Given the description of an element on the screen output the (x, y) to click on. 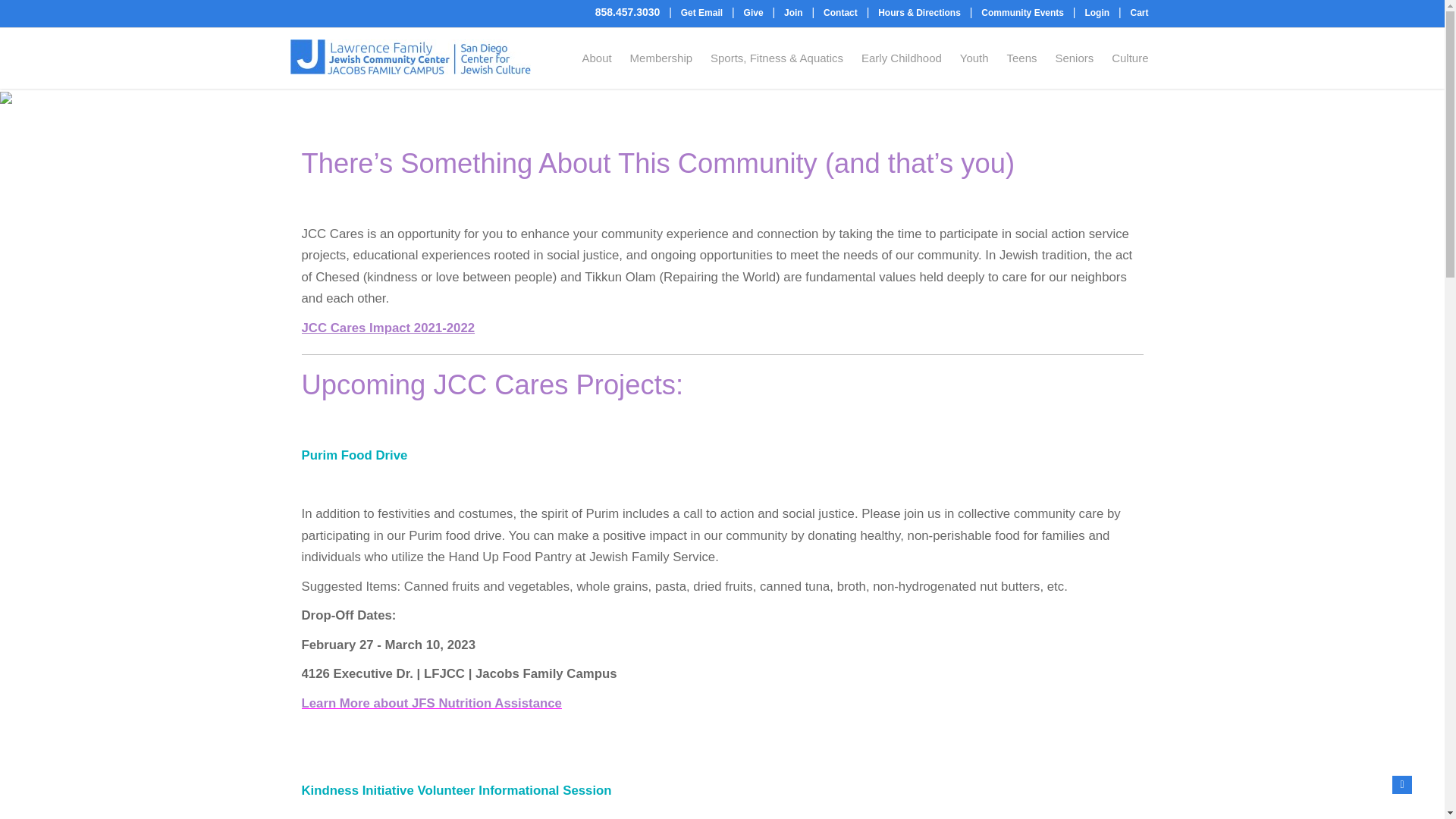
Login (1096, 12)
Contact (840, 12)
Get Email (701, 12)
Community Events (1022, 12)
About (595, 57)
Membership (661, 57)
Give (753, 12)
Cart (1138, 12)
Join (793, 12)
